Given the description of an element on the screen output the (x, y) to click on. 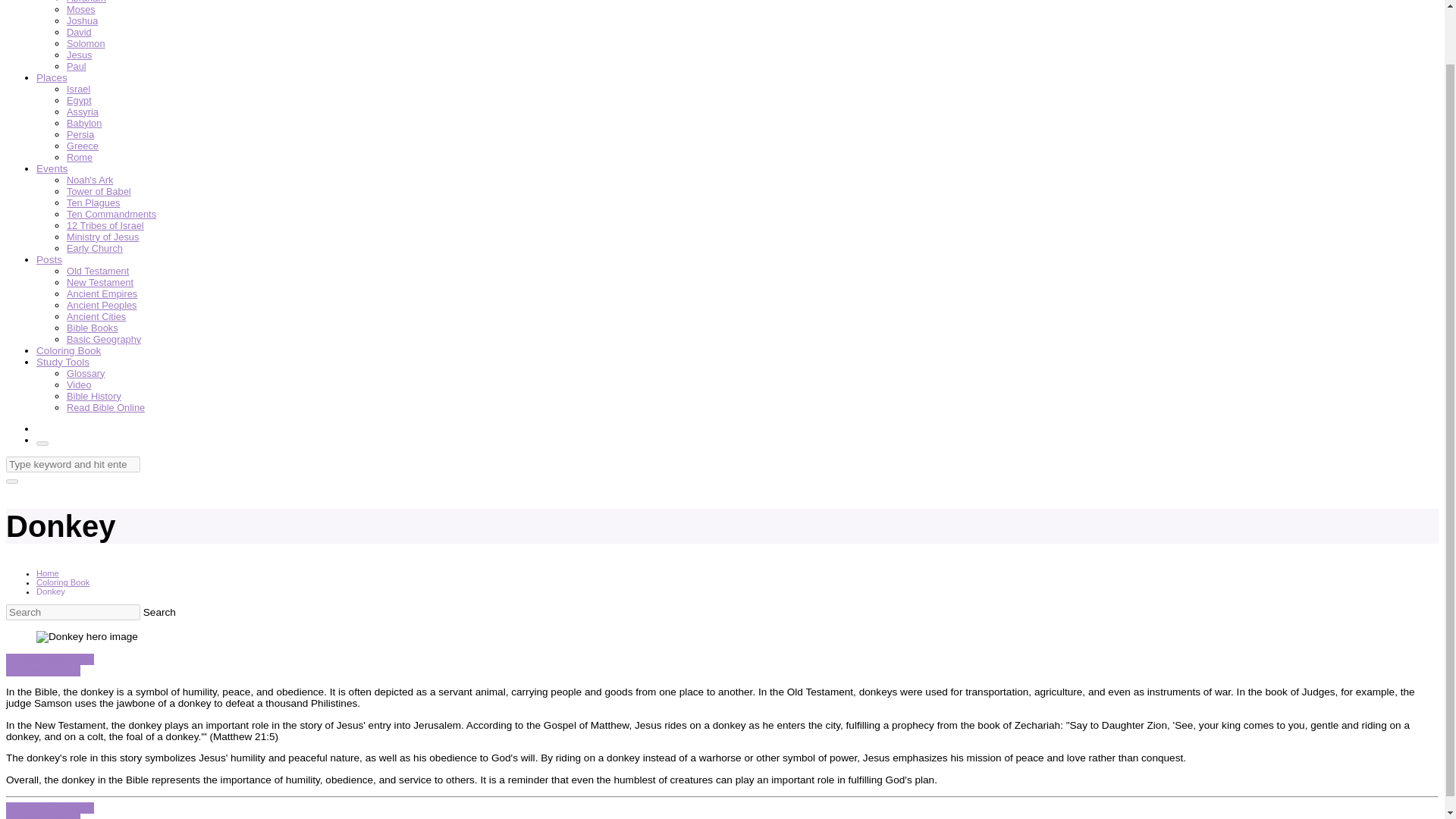
Events (52, 168)
12 Tribes of Israel (105, 225)
Posts (49, 259)
Tower of Babel (98, 191)
David (78, 31)
Bible History (93, 396)
Ancient Cities (95, 316)
Coloring Book (68, 350)
Rome (79, 156)
Israel (78, 89)
Moses (81, 9)
New Testament (99, 282)
Jesus (78, 54)
Ministry of Jesus (102, 236)
Egypt (78, 100)
